Given the description of an element on the screen output the (x, y) to click on. 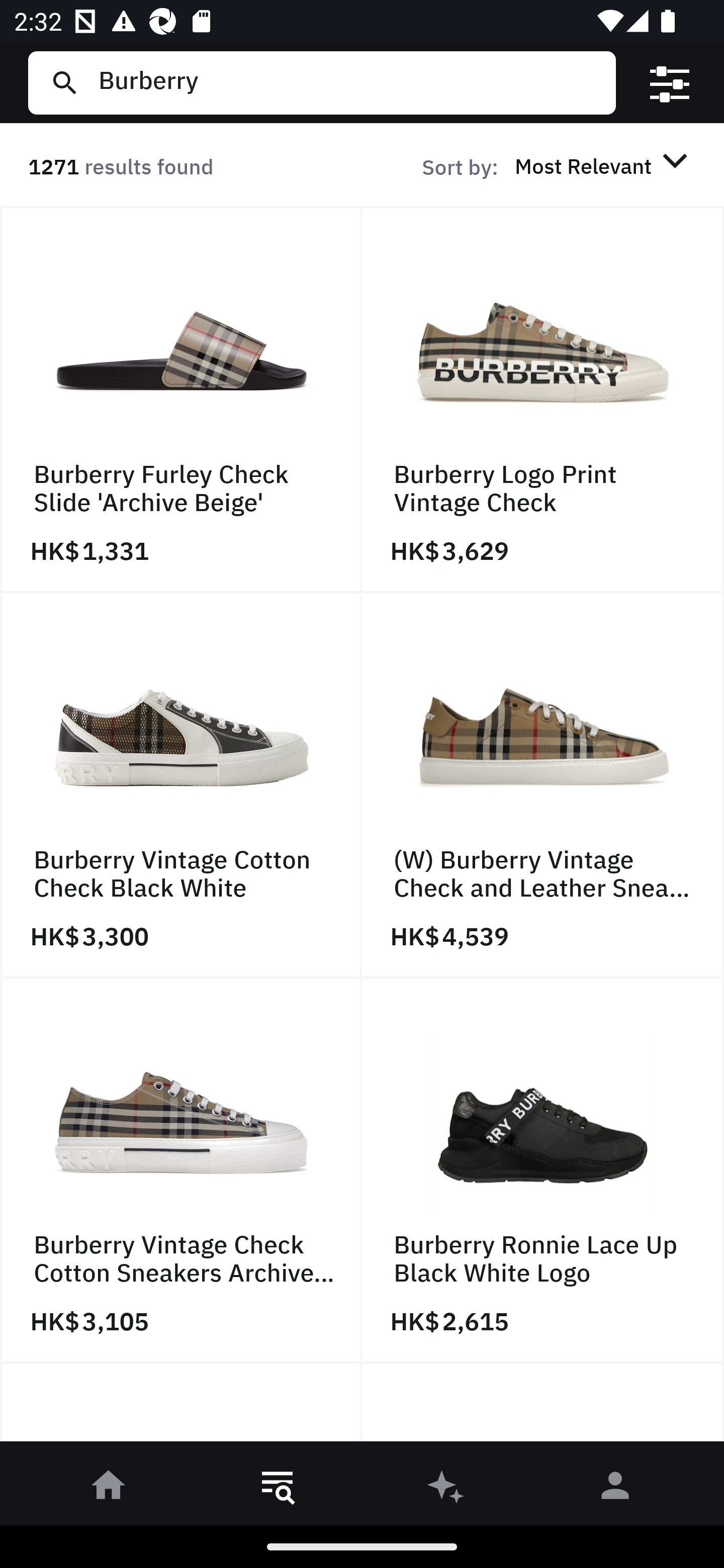
Burberry (349, 82)
 (669, 82)
Most Relevant  (604, 165)
Burberry Logo Print Vintage Check HK$ 3,629 (543, 399)
Burberry Ronnie Lace Up Black White Logo HK$ 2,615 (543, 1171)
󰋜 (108, 1488)
󱎸 (277, 1488)
󰫢 (446, 1488)
󰀄 (615, 1488)
